Given the description of an element on the screen output the (x, y) to click on. 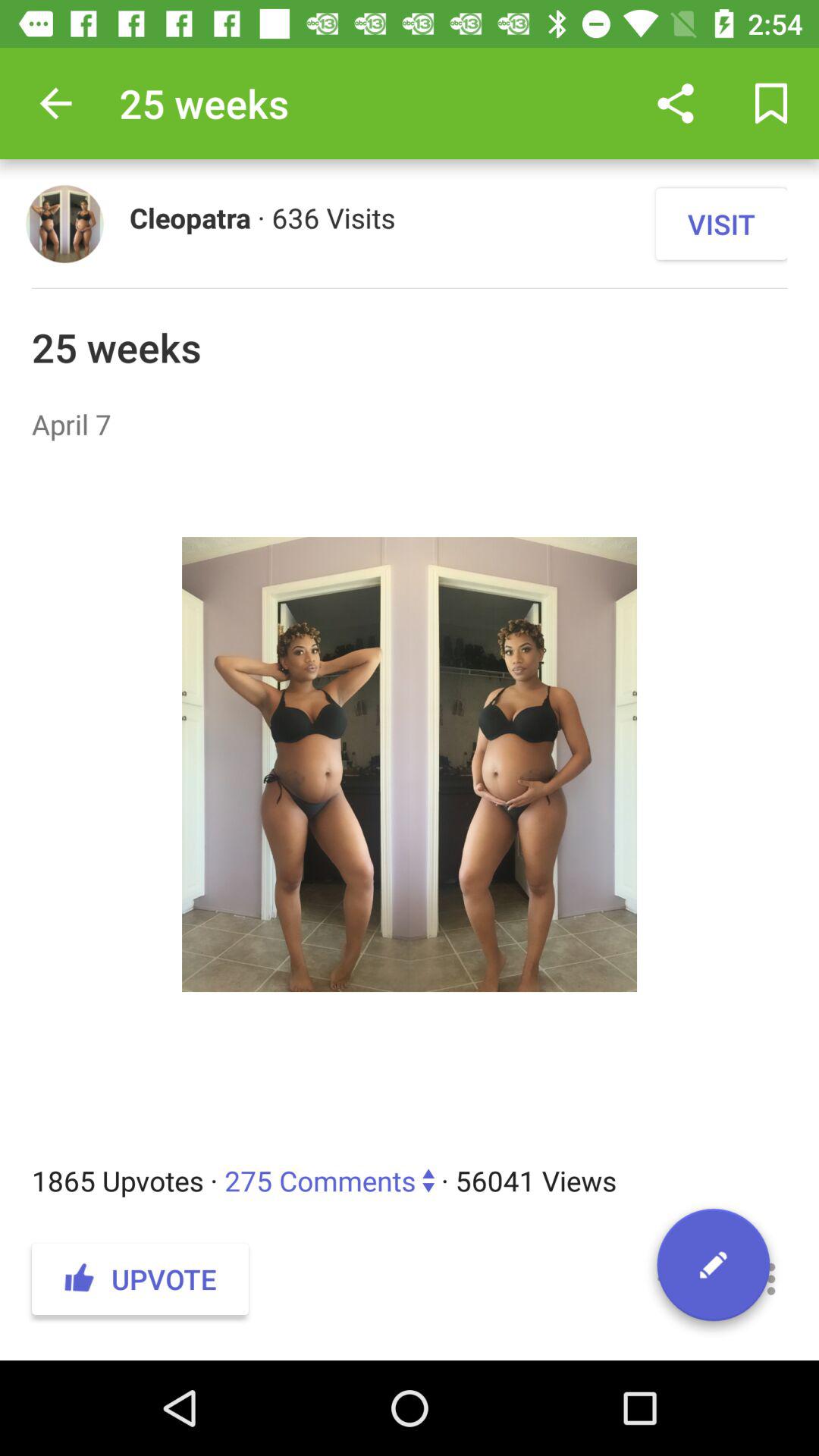
launch 1865 upvotes 275 item (409, 1180)
